Given the description of an element on the screen output the (x, y) to click on. 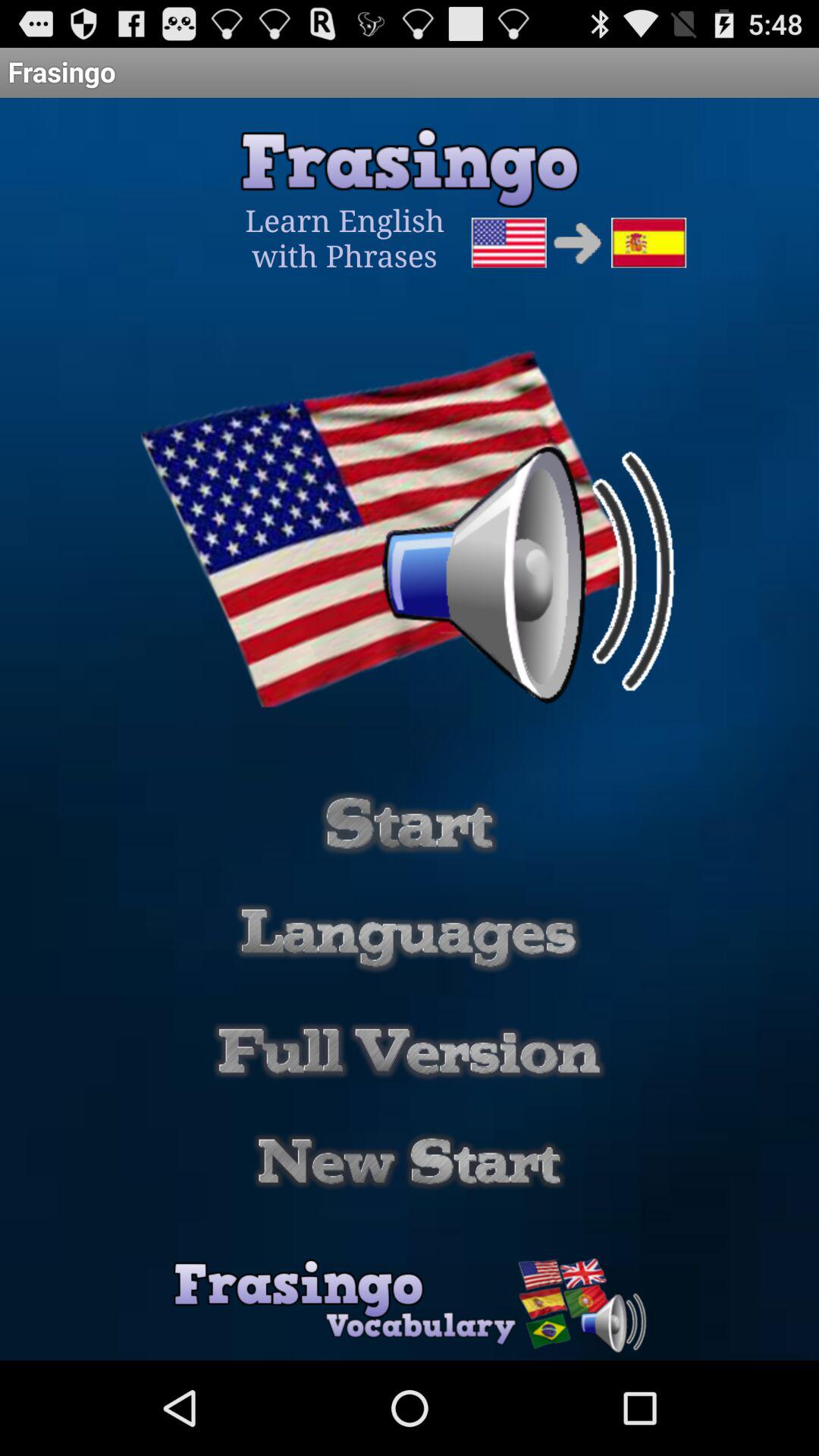
start button (409, 823)
